Given the description of an element on the screen output the (x, y) to click on. 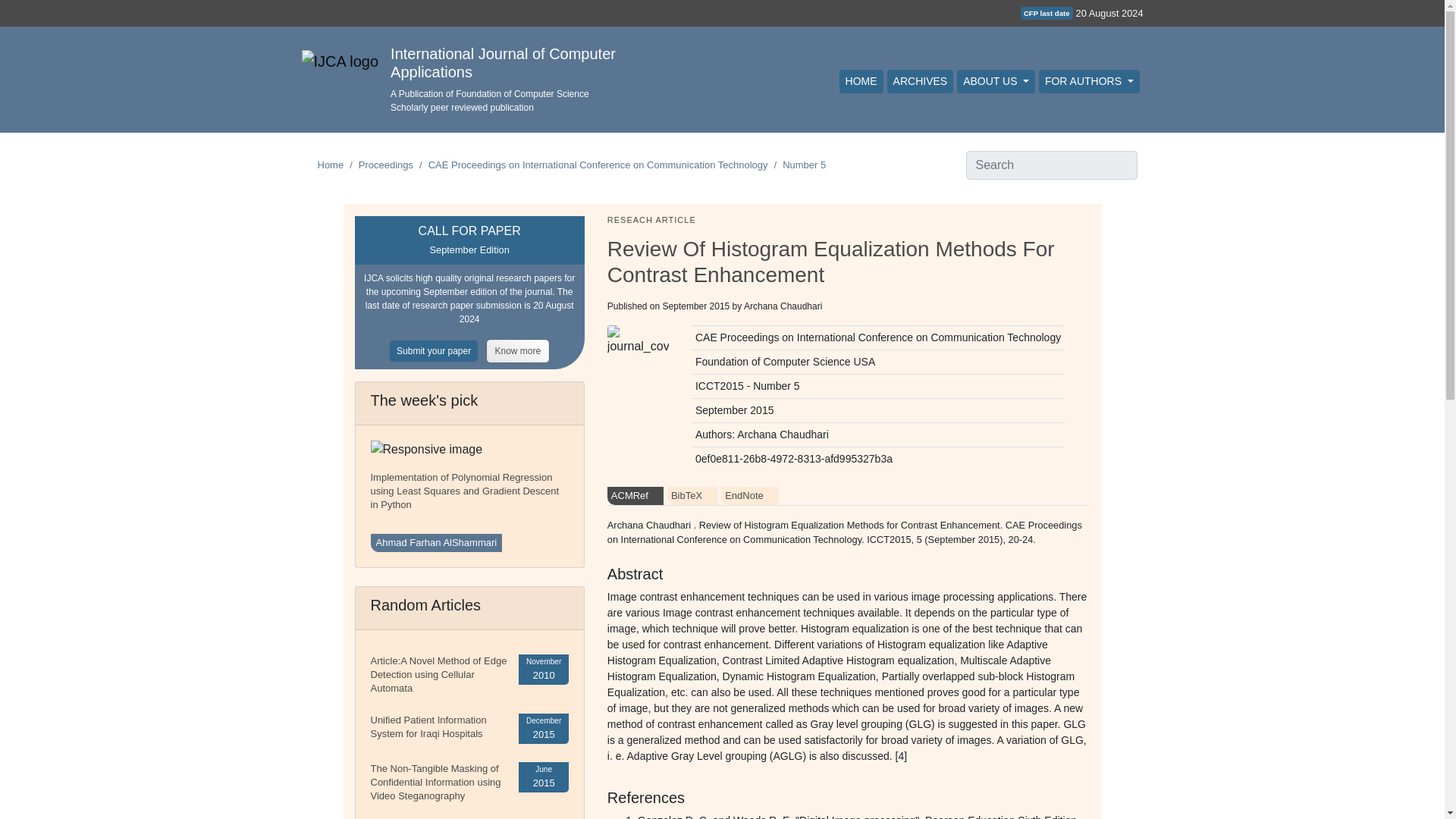
FOR AUTHORS (1089, 81)
Unified Patient Information System for Iraqi Hospitals (427, 726)
Home (330, 164)
Number 5 (804, 164)
Proceedings (385, 164)
HOME (861, 81)
Ahmad Farhan AlShammari (435, 542)
EndNote (749, 495)
BibTeX (691, 495)
Submit your paper (438, 349)
ACMRef (635, 495)
